Given the description of an element on the screen output the (x, y) to click on. 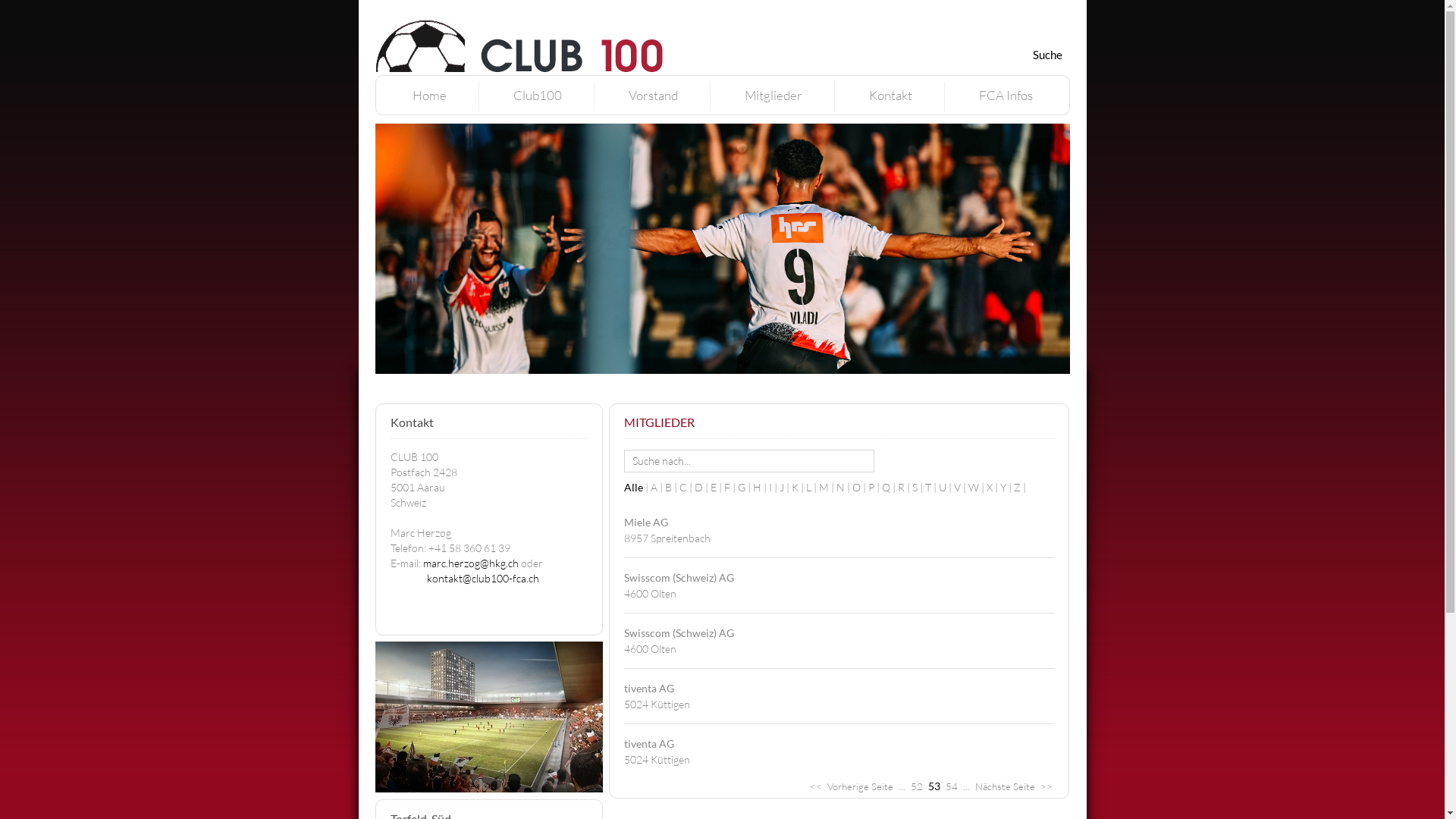
E Element type: text (716, 486)
Kontakt Element type: text (890, 95)
N Element type: text (843, 486)
W Element type: text (976, 486)
Y Element type: text (1006, 486)
V Element type: text (960, 486)
>> Element type: text (1046, 786)
Vorherige Seite Element type: text (859, 786)
A Element type: text (657, 486)
L Element type: text (811, 486)
marc.herzog@hkg.ch Element type: text (470, 562)
K Element type: text (798, 486)
Zum Mitgliederbereich Element type: text (992, 8)
F Element type: text (730, 486)
Miele AG Element type: text (645, 521)
Swisscom (Schweiz) AG Element type: text (678, 632)
R Element type: text (904, 486)
G Element type: text (744, 486)
Q Element type: text (889, 486)
tiventa AG Element type: text (648, 687)
FCA Infos Element type: text (1005, 95)
I Element type: text (773, 486)
Mitglieder Element type: text (773, 95)
52 Element type: text (916, 786)
Suche Element type: text (1047, 54)
P Element type: text (874, 486)
Z Element type: text (1019, 486)
B Element type: text (671, 486)
T Element type: text (931, 486)
Alle Element type: text (636, 486)
U Element type: text (945, 486)
D Element type: text (702, 486)
M Element type: text (827, 486)
<< Element type: text (815, 786)
Home Element type: text (429, 95)
O Element type: text (860, 486)
kontakt@club100-fca.ch Element type: text (482, 577)
tiventa AG Element type: text (648, 743)
C Element type: text (686, 486)
X Element type: text (992, 486)
Club100 Element type: text (536, 95)
Vorstand Element type: text (652, 95)
H Element type: text (760, 486)
54 Element type: text (950, 786)
J Element type: text (785, 486)
Swisscom (Schweiz) AG Element type: text (678, 577)
S Element type: text (917, 486)
